Given the description of an element on the screen output the (x, y) to click on. 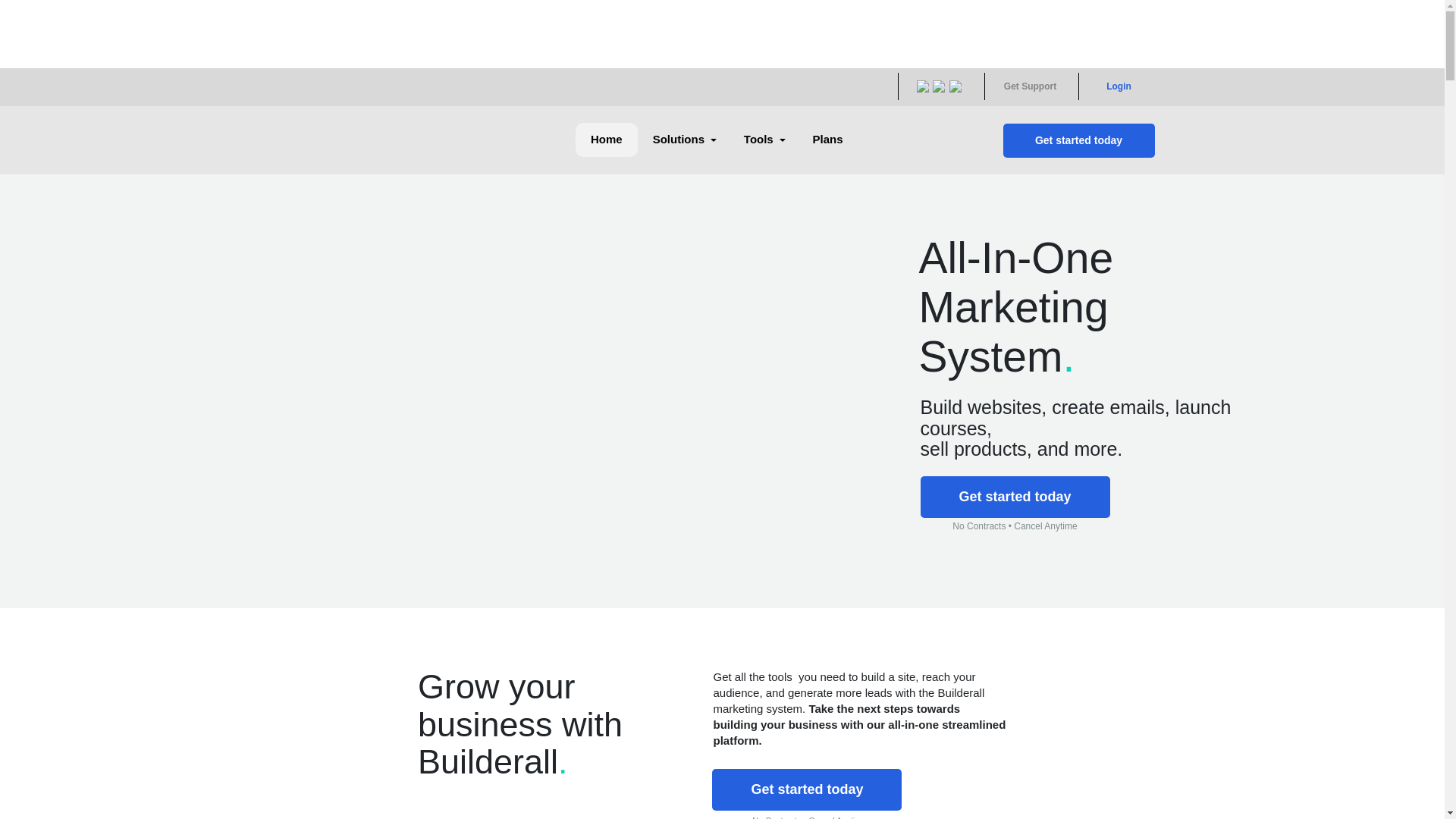
Get started today Element type: text (1078, 140)
Solutions Element type: text (682, 139)
Get Support Element type: text (1029, 86)
Get started today Element type: text (1015, 496)
Get started today Element type: text (806, 789)
Login Element type: text (1118, 86)
Tools Element type: text (762, 139)
Plans Element type: text (827, 139)
Home Element type: text (606, 139)
